Given the description of an element on the screen output the (x, y) to click on. 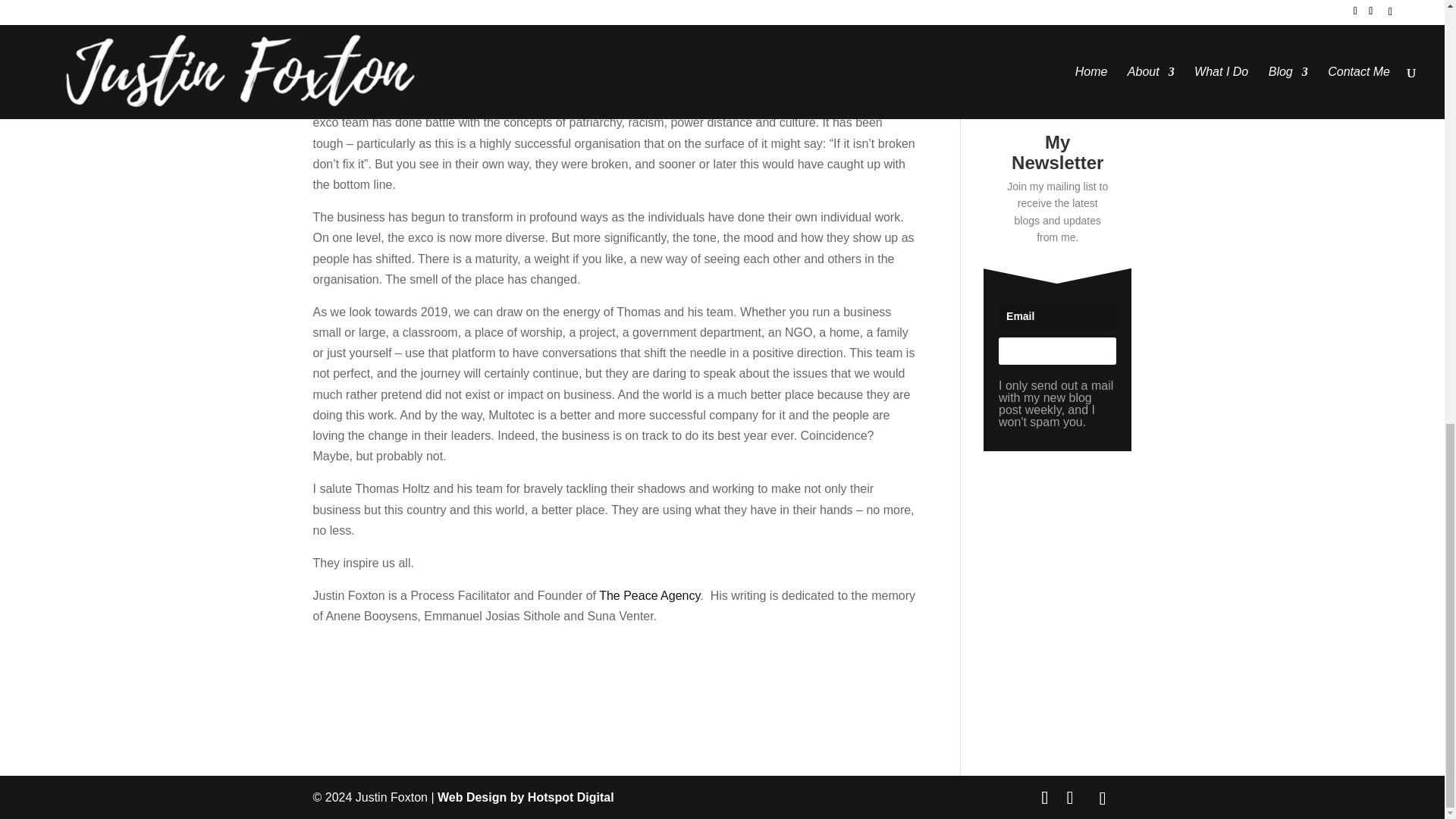
The Peace Agency (649, 594)
